Given the description of an element on the screen output the (x, y) to click on. 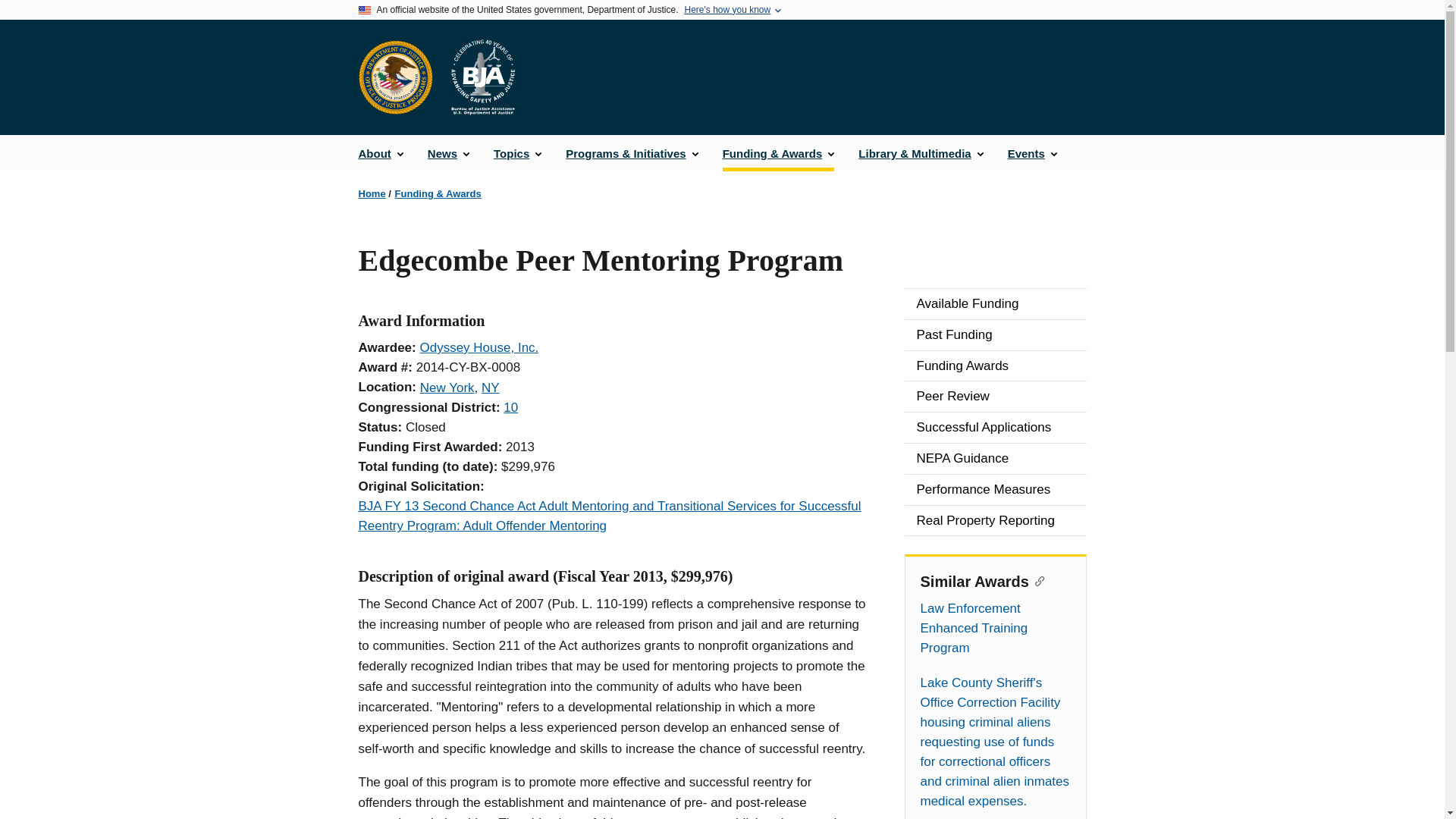
About (380, 153)
Law Enforcement Enhanced Training Program (995, 628)
Available Funding (995, 304)
Home (371, 193)
Law Enforcement Enhanced Training Program (995, 628)
NEPA Guidance (995, 458)
Events (1031, 153)
Peer Review (995, 396)
Real Property Reporting (995, 521)
Funding Awards (995, 366)
